Given the description of an element on the screen output the (x, y) to click on. 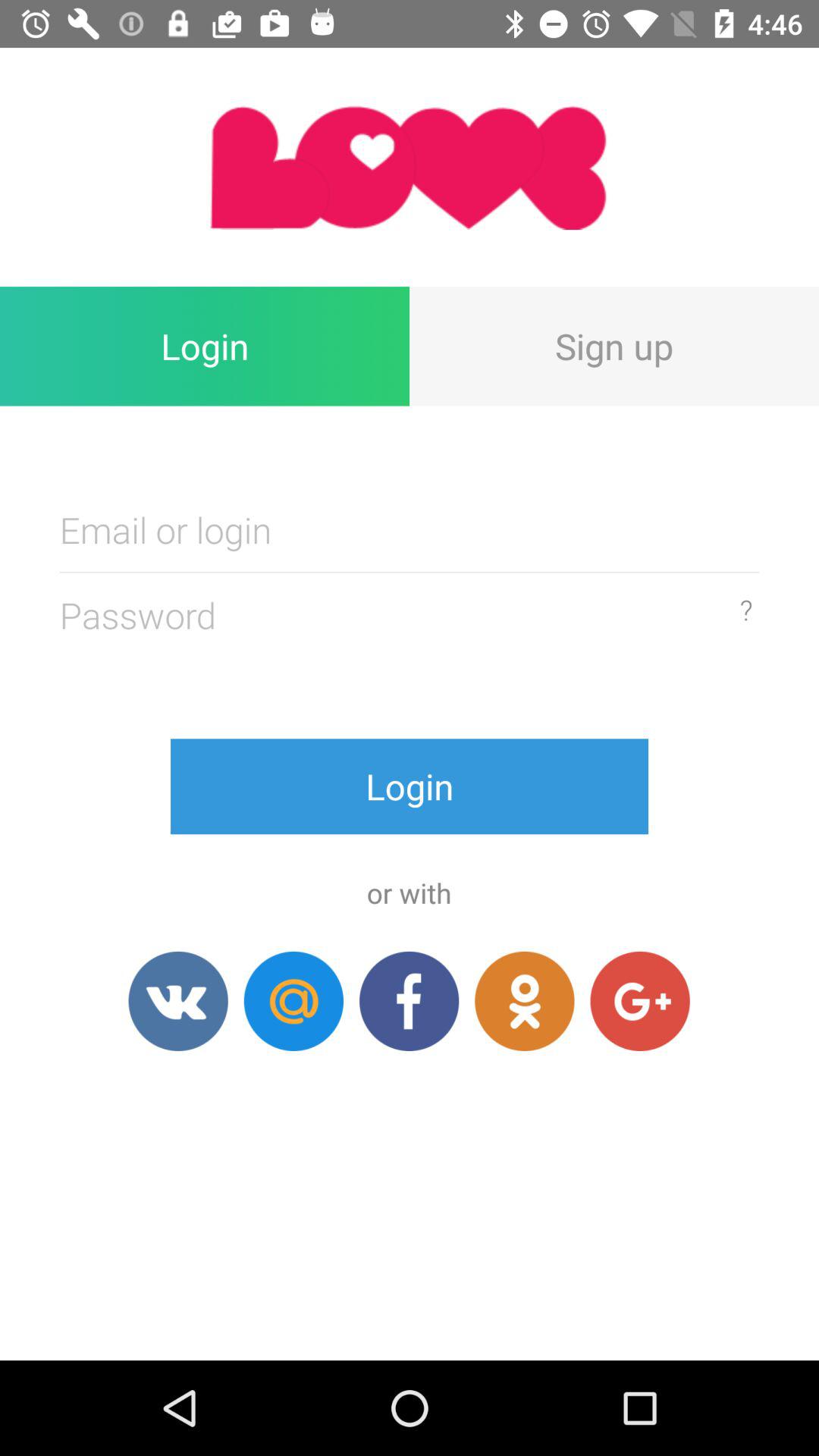
login with email (293, 1001)
